Given the description of an element on the screen output the (x, y) to click on. 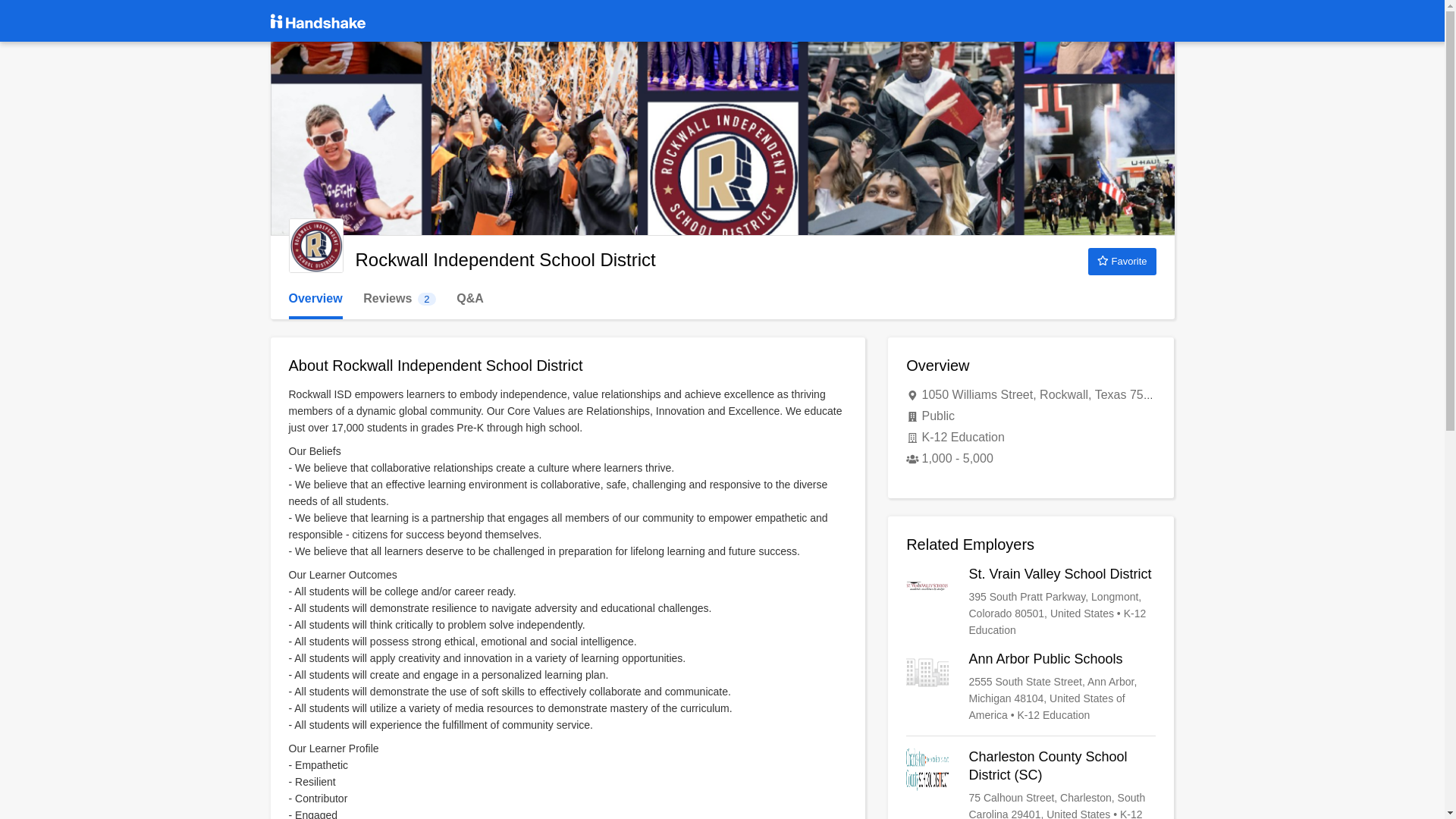
Ann Arbor Public Schools (1030, 686)
St. Vrain Valley School District (1030, 601)
Overview (315, 298)
Rockwall Independent School District (315, 245)
Favorite (1121, 261)
